Given the description of an element on the screen output the (x, y) to click on. 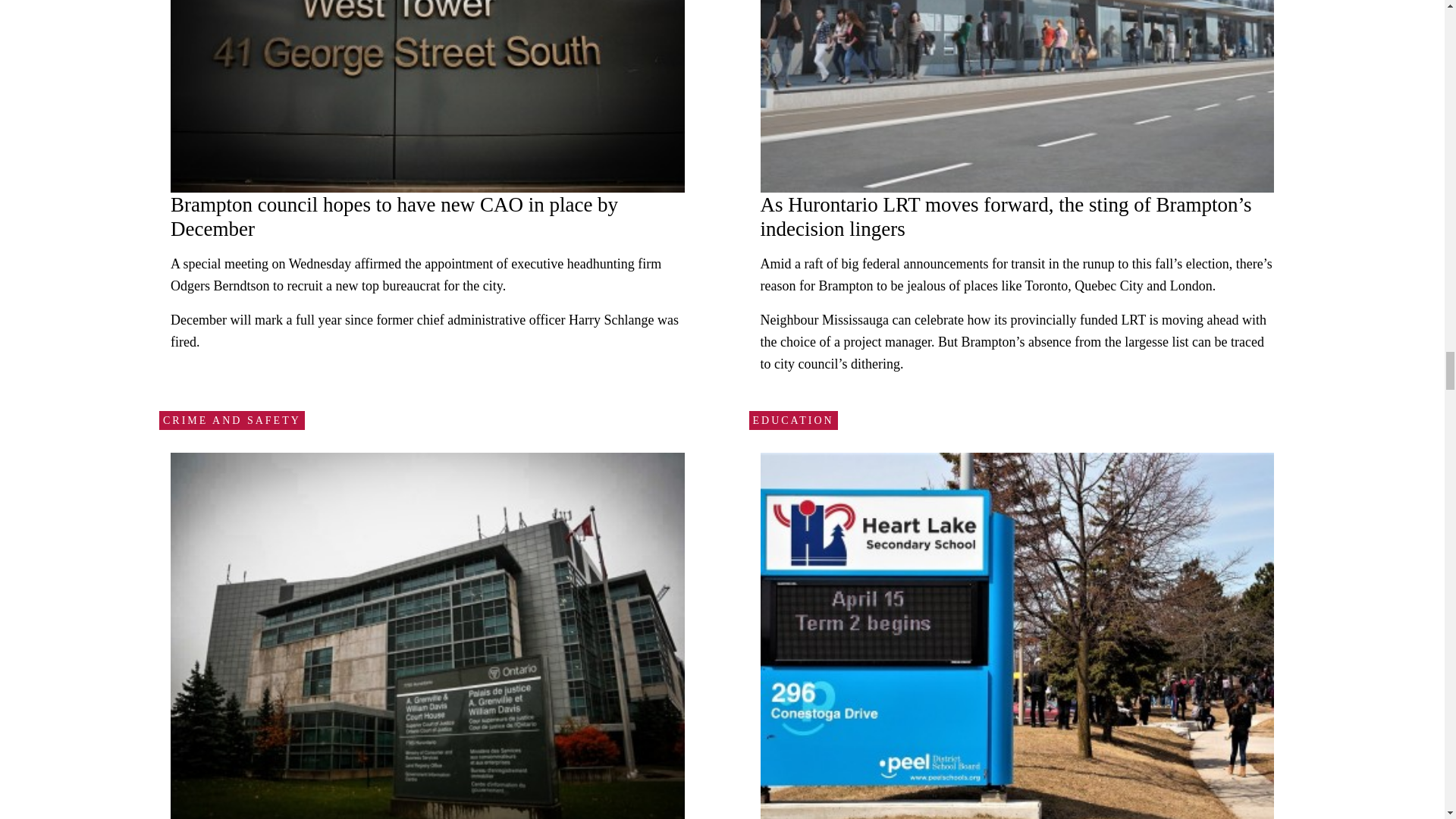
Brampton council hopes to have new CAO in place by December (393, 216)
